Given the description of an element on the screen output the (x, y) to click on. 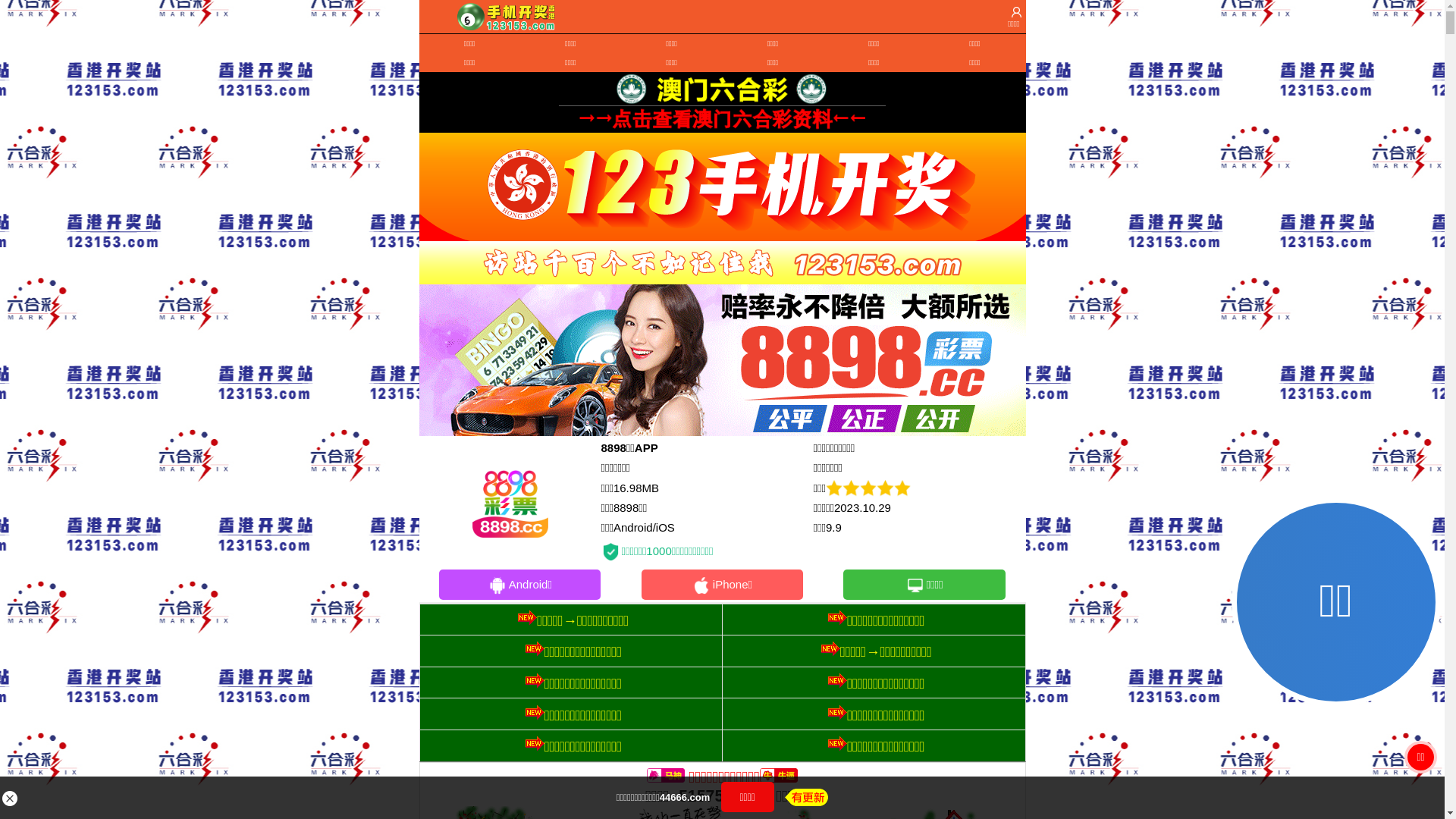
2050.biz Element type: text (786, 483)
8898.cc Element type: text (657, 448)
918.cc Element type: text (786, 550)
1877.bet Element type: text (786, 518)
8i.cc Element type: text (657, 483)
U7.cc Element type: text (657, 518)
9797.cc Element type: text (786, 448)
8228.cc Element type: text (657, 550)
